Given the description of an element on the screen output the (x, y) to click on. 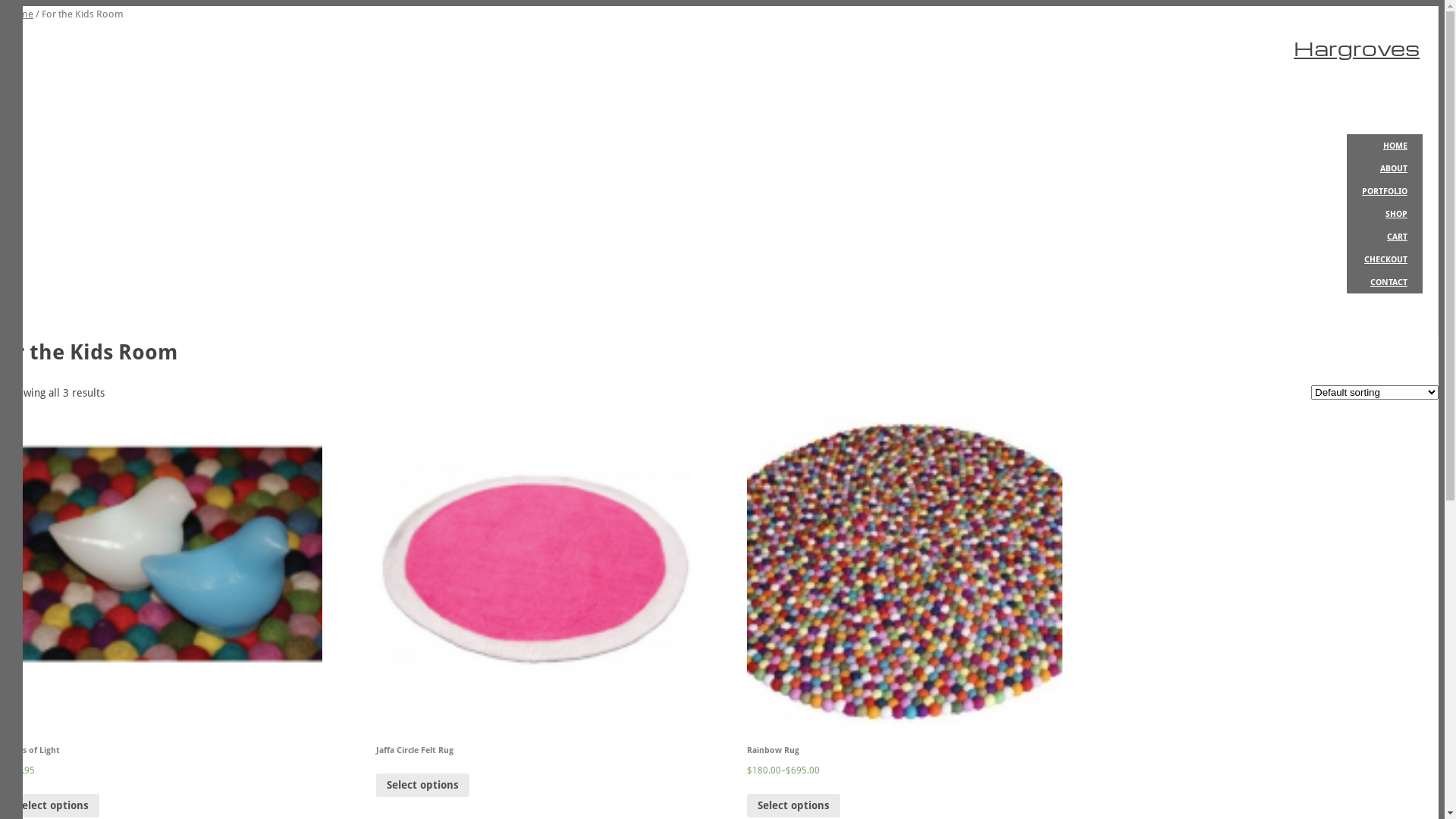
CHECKOUT Element type: text (1384, 258)
CONTACT Element type: text (1384, 281)
CART Element type: text (1384, 236)
Select options Element type: text (422, 785)
Hargroves Element type: text (1356, 47)
SHOP Element type: text (1384, 213)
Birds of Light
$19.95 Element type: text (164, 611)
Jaffa Circle Felt Rug Element type: text (534, 600)
HOME Element type: text (1384, 145)
Home Element type: text (19, 13)
ABOUT Element type: text (1384, 167)
Select options Element type: text (52, 805)
Select options Element type: text (793, 805)
PORTFOLIO Element type: text (1384, 190)
